Given the description of an element on the screen output the (x, y) to click on. 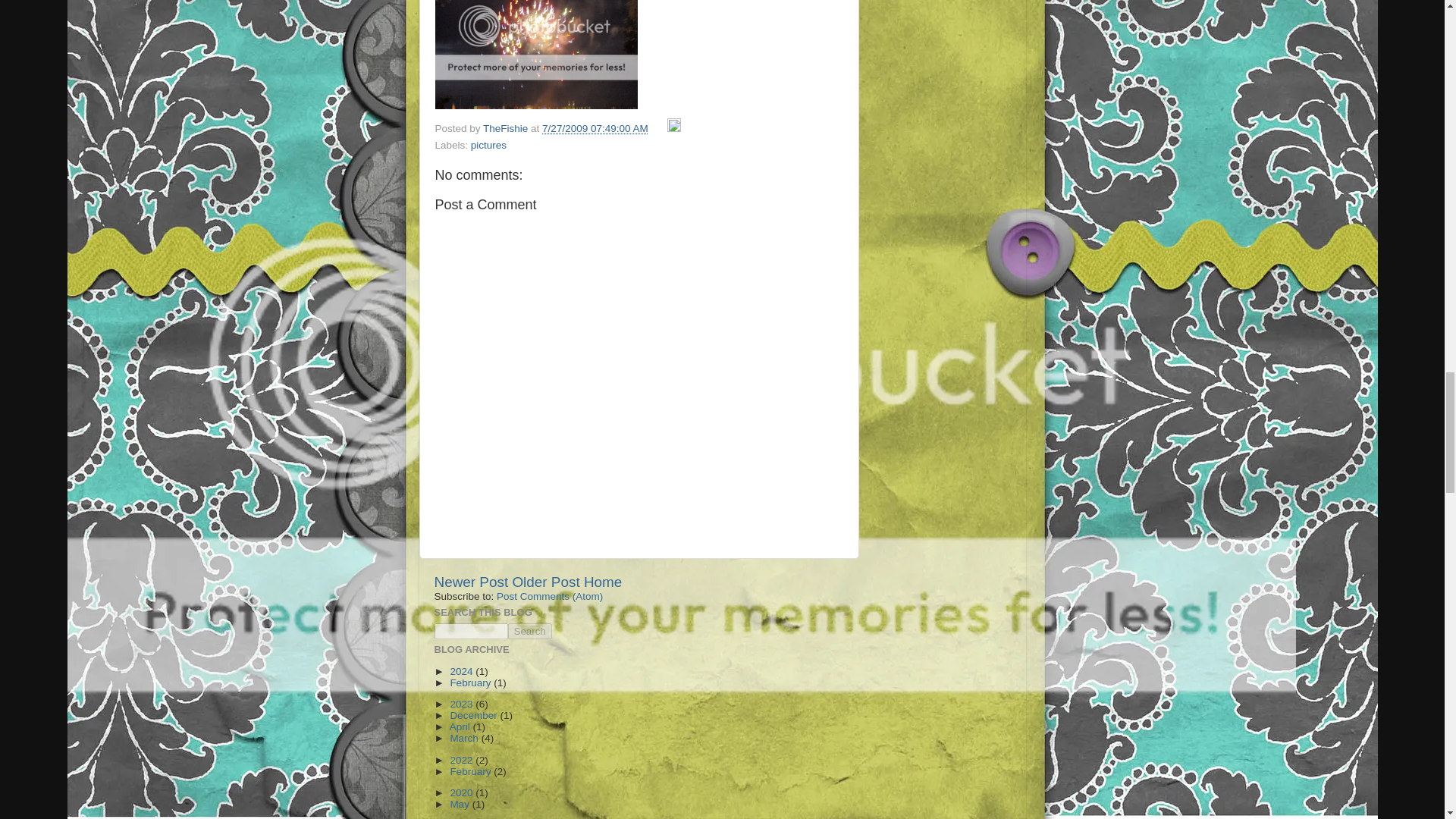
Older Post (545, 581)
search (529, 631)
February (471, 682)
Search (529, 631)
Search (529, 631)
permanent link (594, 128)
2024 (462, 671)
search (469, 631)
Newer Post (470, 581)
Search (529, 631)
December (474, 715)
author profile (507, 128)
Home (602, 581)
pictures (488, 144)
Newer Post (470, 581)
